Given the description of an element on the screen output the (x, y) to click on. 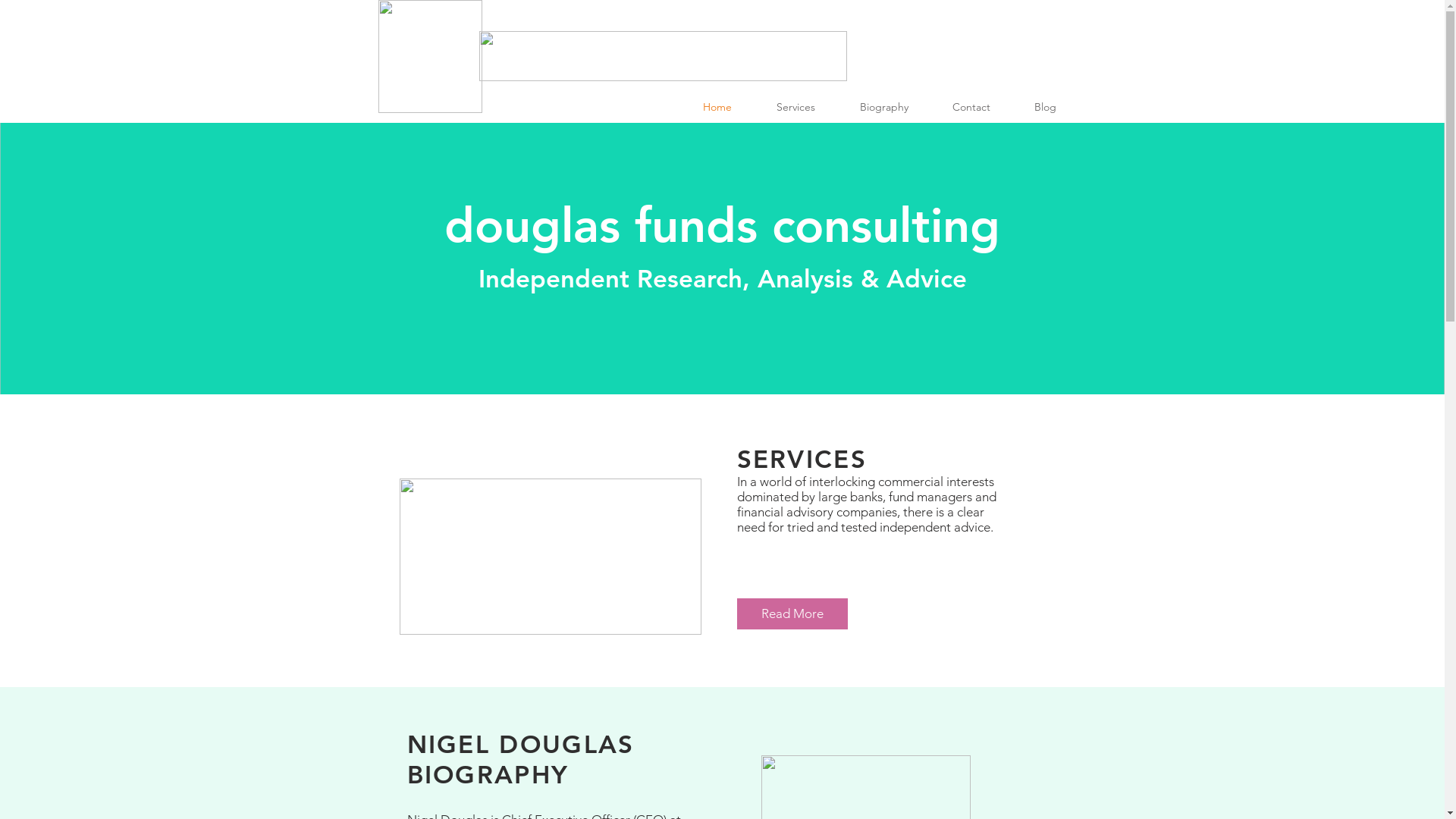
Biography Element type: text (893, 107)
Services Element type: text (805, 107)
Blog Element type: text (1055, 107)
Contact Element type: text (981, 107)
Home Element type: text (728, 107)
Read More Element type: text (792, 613)
